Given the description of an element on the screen output the (x, y) to click on. 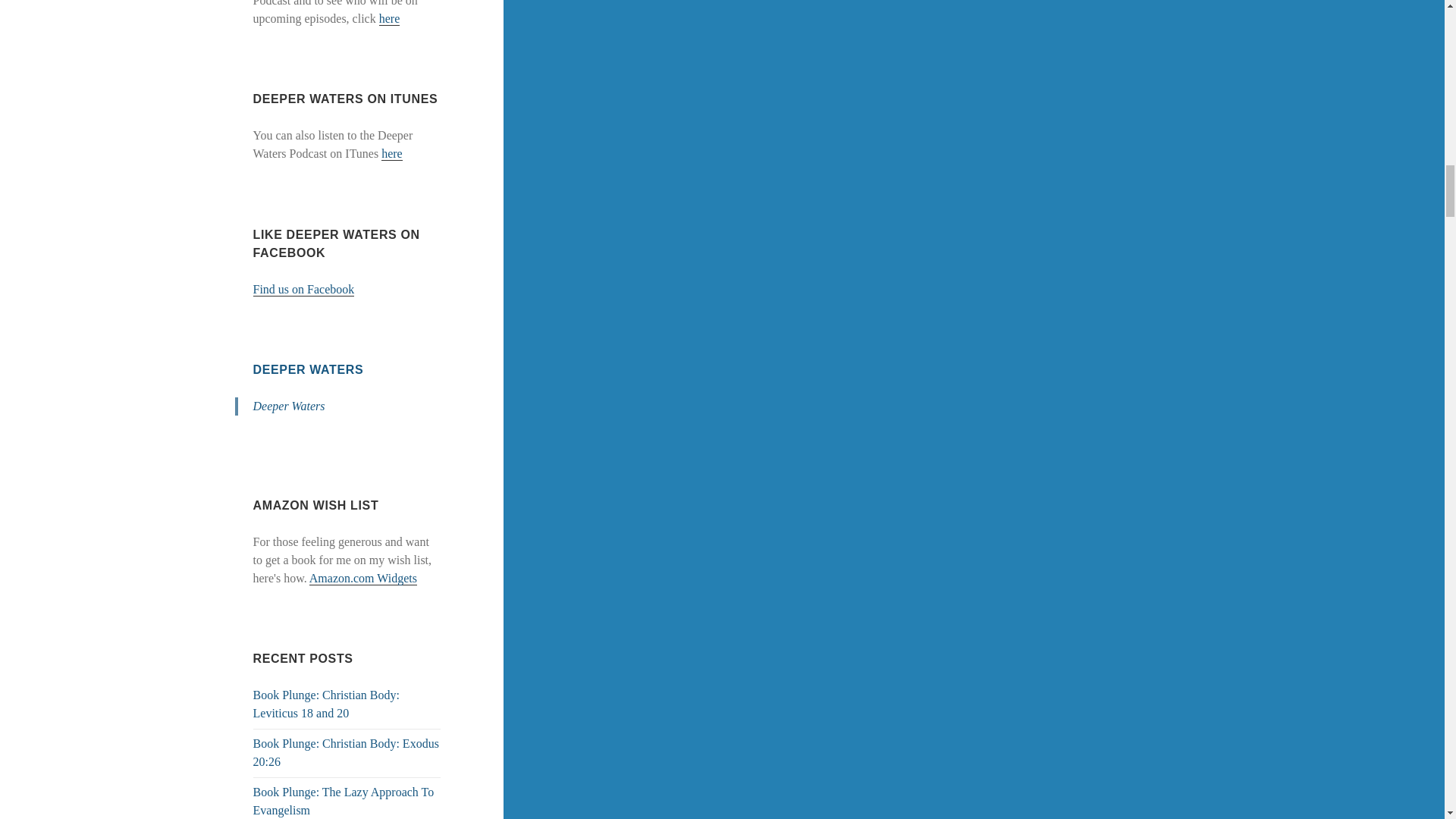
DEEPER WATERS (308, 369)
Book Plunge: Christian Body: Exodus 20:26 (346, 752)
Deeper Waters (288, 405)
Find us on Facebook (304, 289)
here (389, 18)
Book Plunge: Christian Body: Leviticus 18 and 20 (325, 703)
Book Plunge: The Lazy Approach To Evangelism (343, 800)
here (392, 153)
Amazon.com Widgets (362, 578)
